Given the description of an element on the screen output the (x, y) to click on. 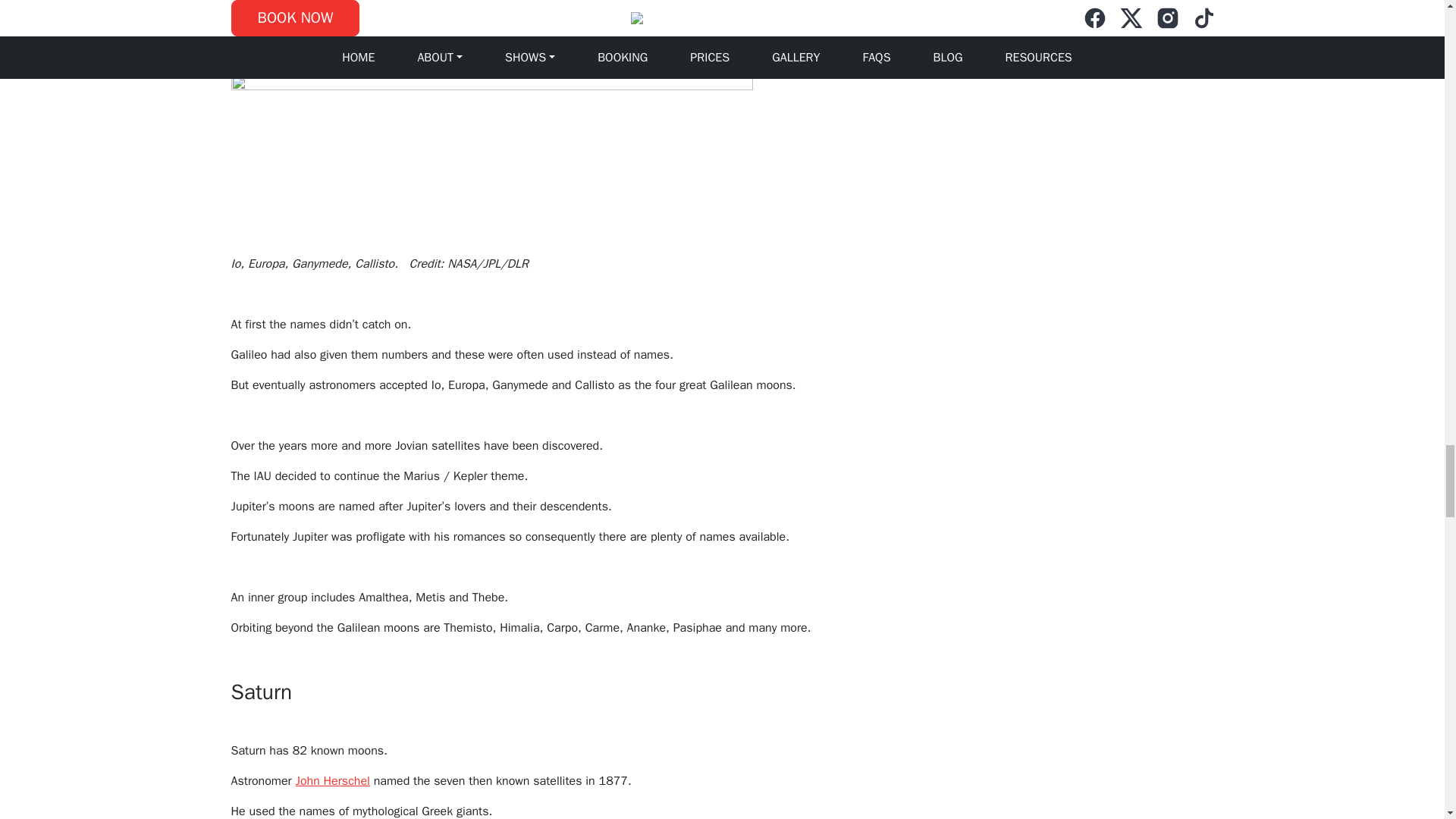
Johannes Kepler (425, 23)
